Given the description of an element on the screen output the (x, y) to click on. 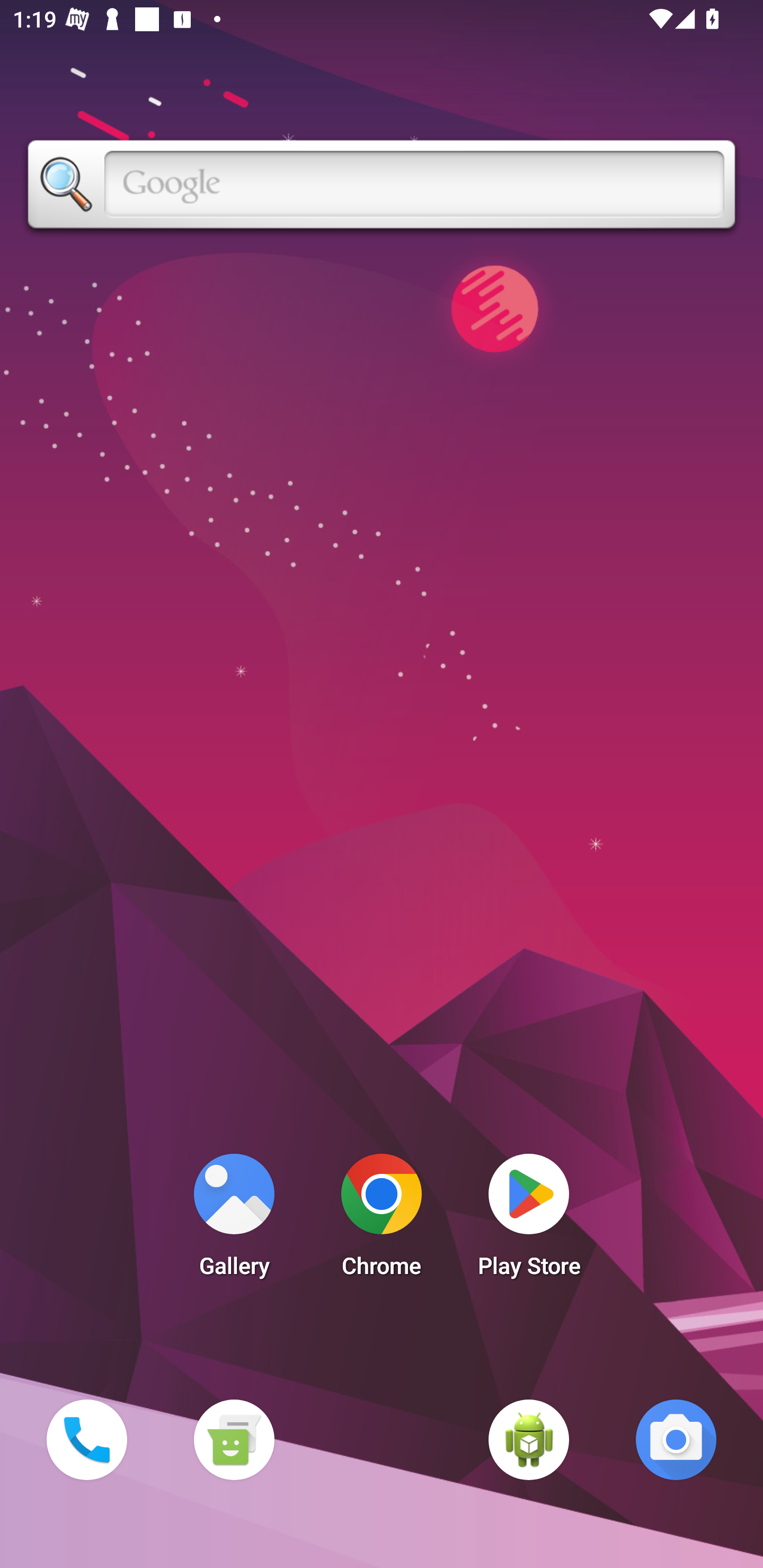
Gallery (233, 1220)
Chrome (381, 1220)
Play Store (528, 1220)
Phone (86, 1439)
Messaging (233, 1439)
WebView Browser Tester (528, 1439)
Camera (676, 1439)
